Given the description of an element on the screen output the (x, y) to click on. 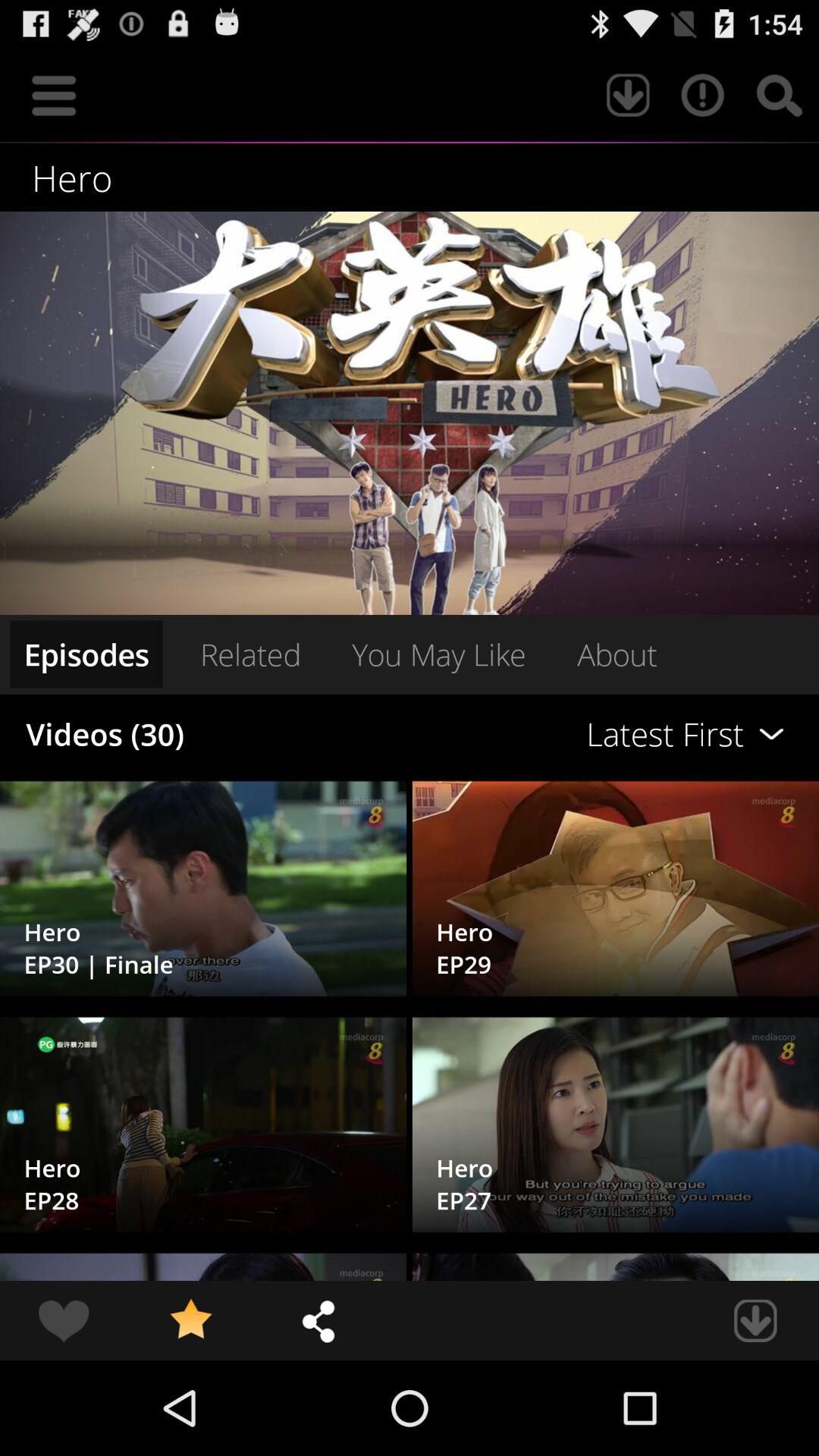
swipe until you may like item (438, 654)
